Given the description of an element on the screen output the (x, y) to click on. 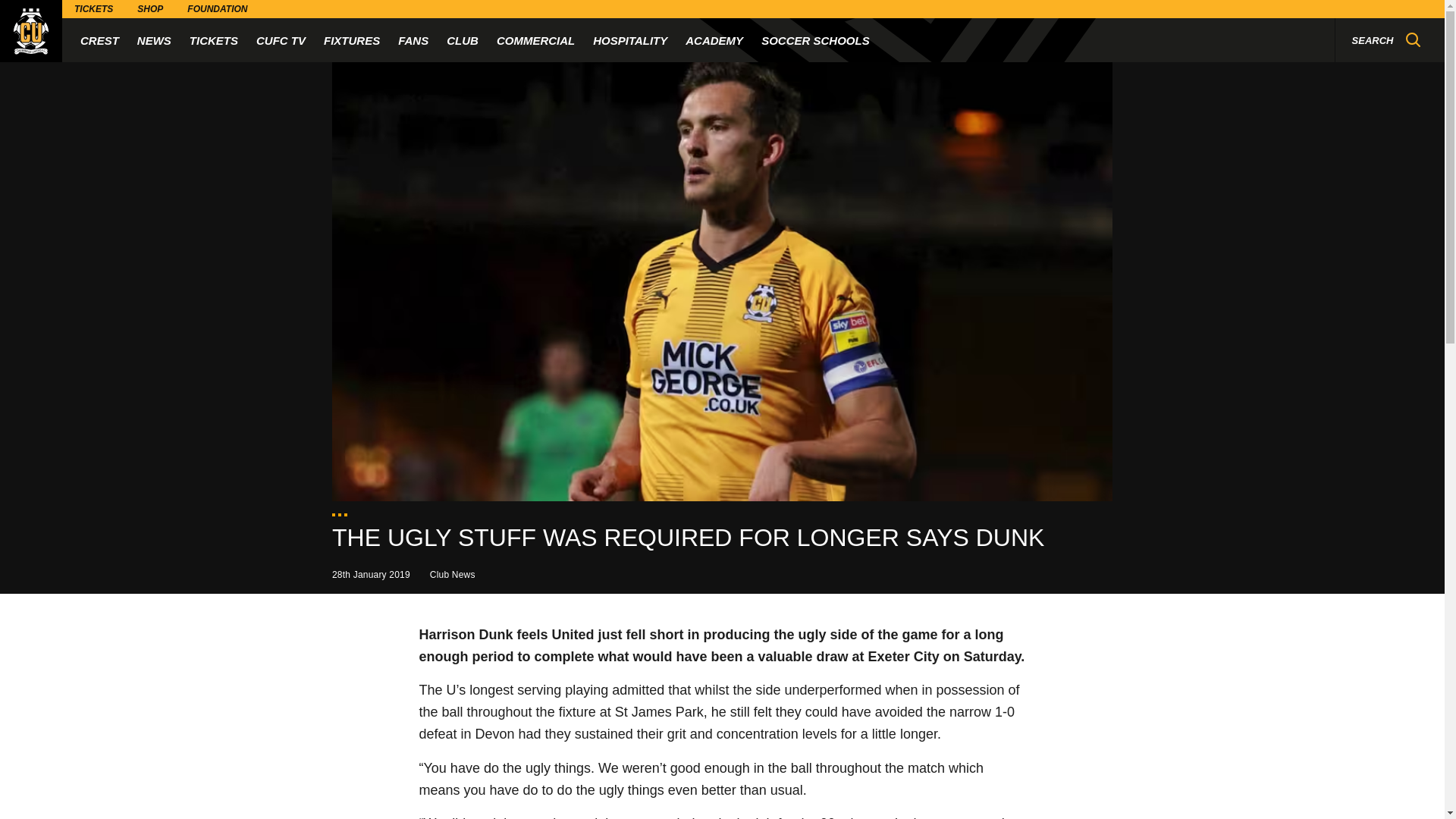
Commerical opportunities at Cambridge United (535, 40)
Back to home (31, 31)
CUFC TV (280, 40)
TICKETS (213, 40)
FOUNDATION (216, 9)
SHOP (149, 9)
FIXTURES (351, 40)
TICKETS (93, 9)
